Given the description of an element on the screen output the (x, y) to click on. 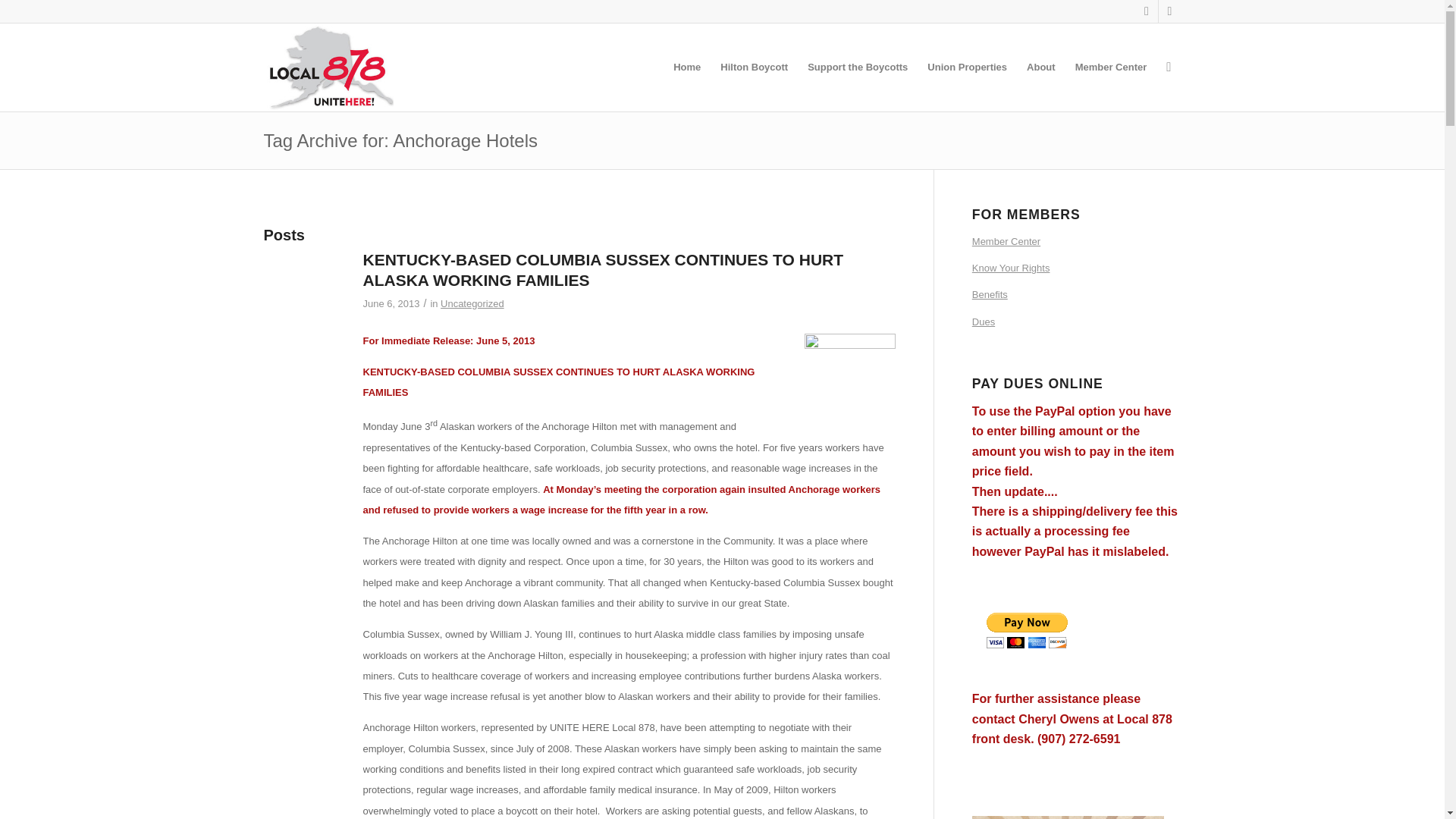
Member Center (1111, 67)
Hilton Boycott (753, 67)
Union Properties (966, 67)
X (1146, 11)
Tag Archive for: Anchorage Hotels (400, 140)
Permanent Link: Tag Archive for: Anchorage Hotels (400, 140)
Support the Boycotts (857, 67)
Facebook (1169, 11)
878logo (850, 379)
Uncategorized (472, 303)
